Given the description of an element on the screen output the (x, y) to click on. 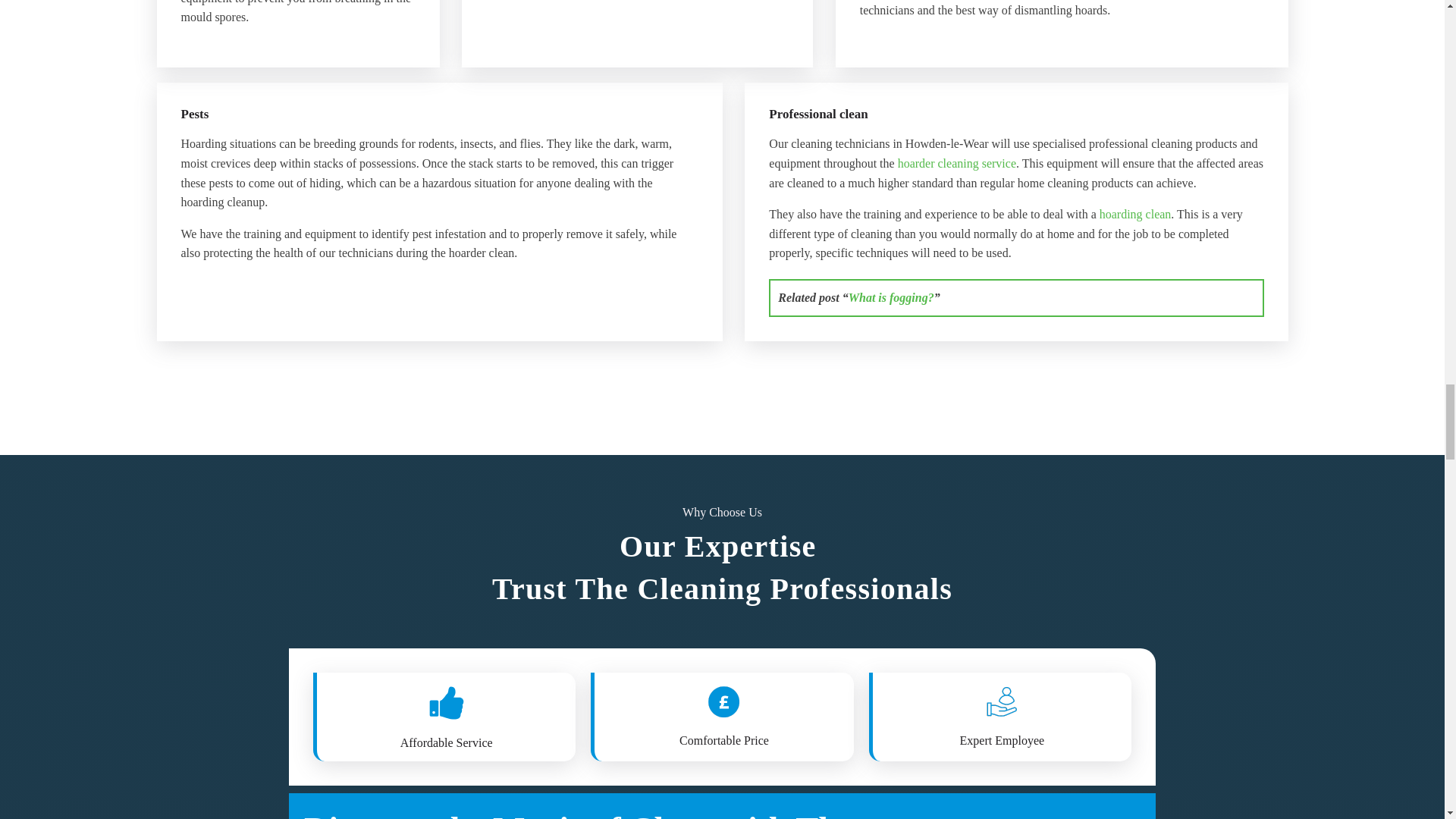
hoarder cleaning service (957, 163)
hoarding clean (1135, 214)
What is fogging? (891, 297)
